Given the description of an element on the screen output the (x, y) to click on. 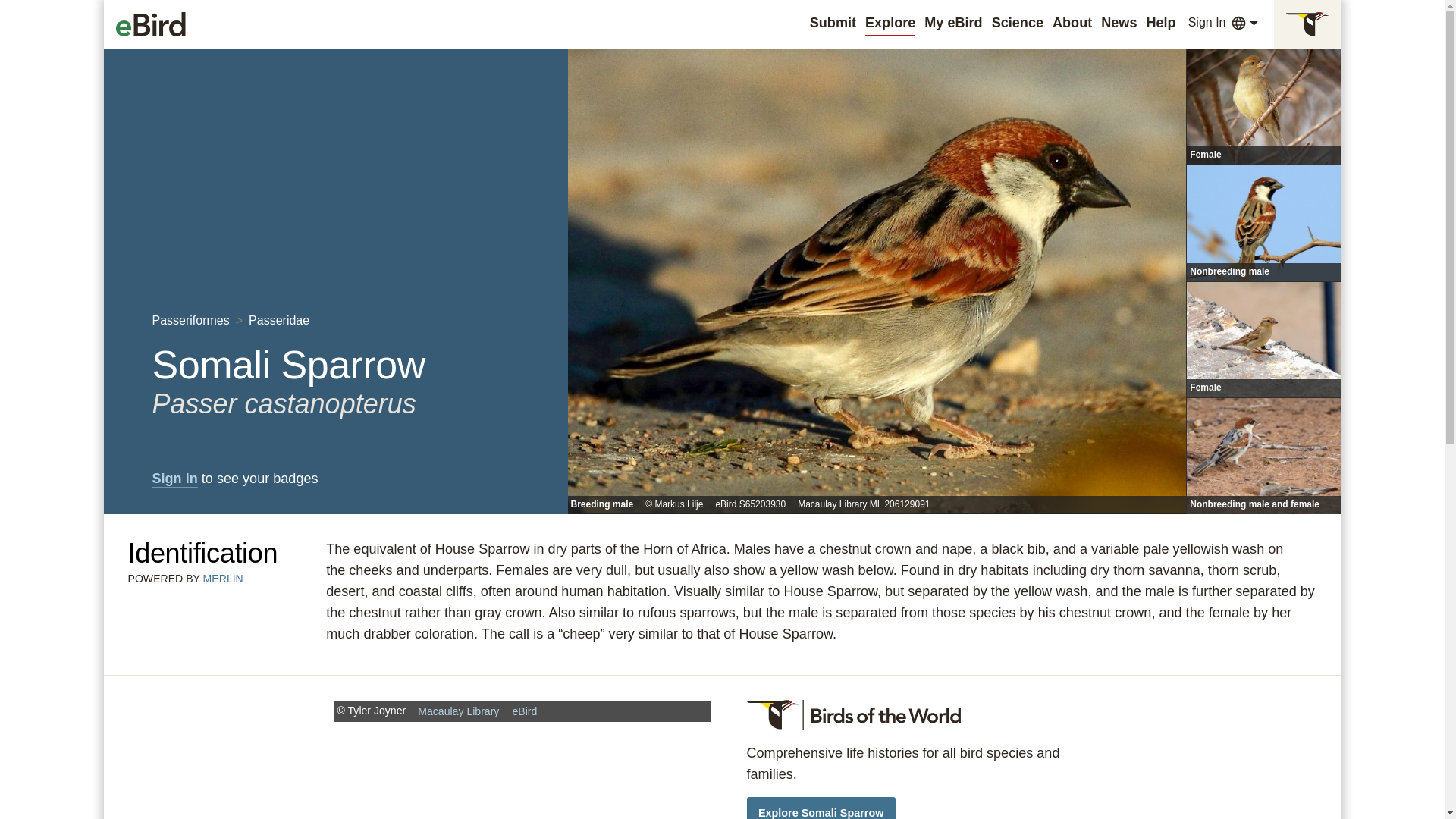
Explore (889, 23)
Science (1017, 23)
About (1072, 23)
Macaulay Library ML 206129091 (863, 504)
Sign in (173, 478)
eBird S65203930 (750, 504)
MERLIN (223, 578)
Submit (832, 23)
My eBird (952, 23)
